Given the description of an element on the screen output the (x, y) to click on. 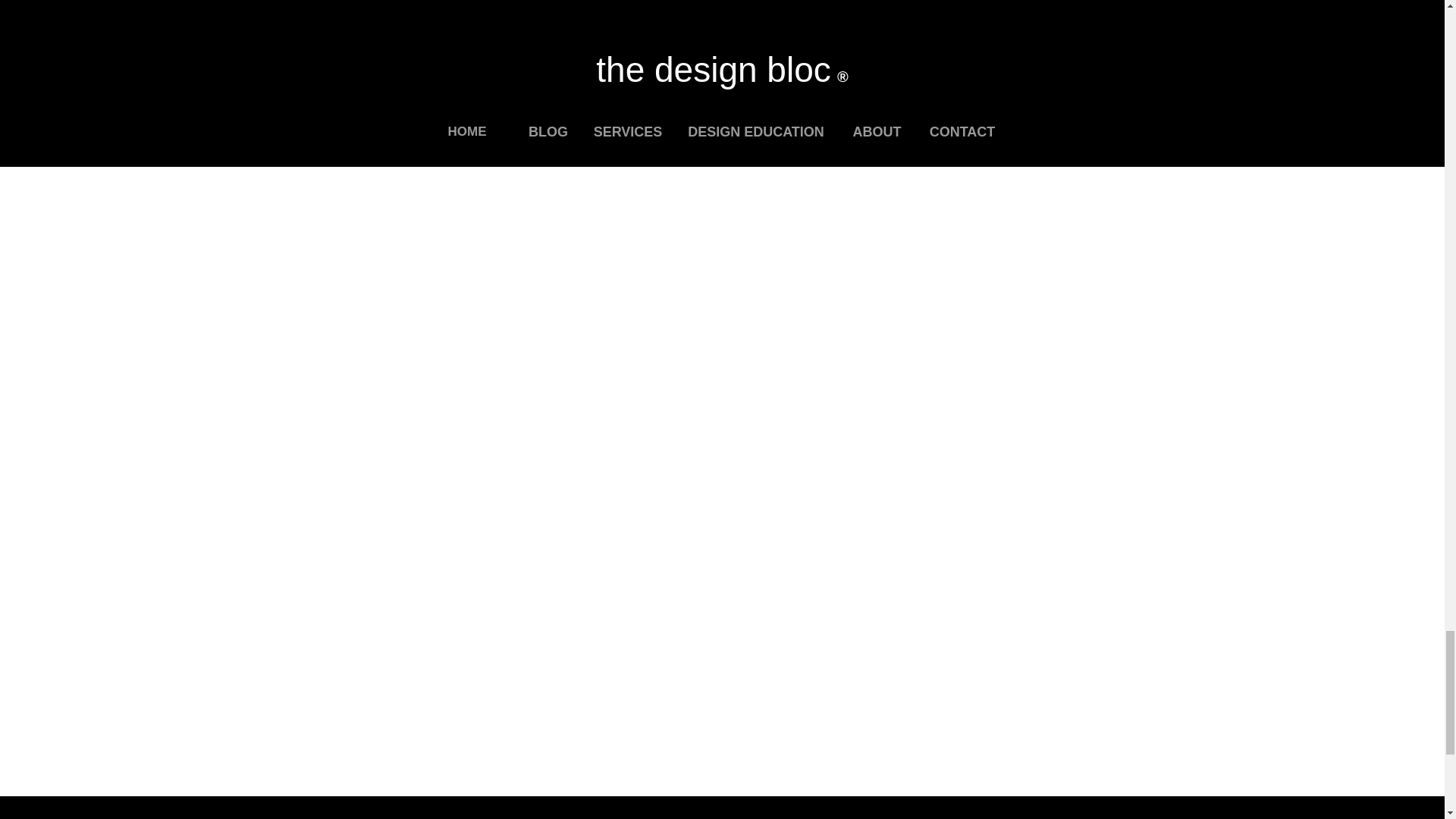
Facebook Like (634, 11)
Share This DesignBloc Article (449, 5)
